Given the description of an element on the screen output the (x, y) to click on. 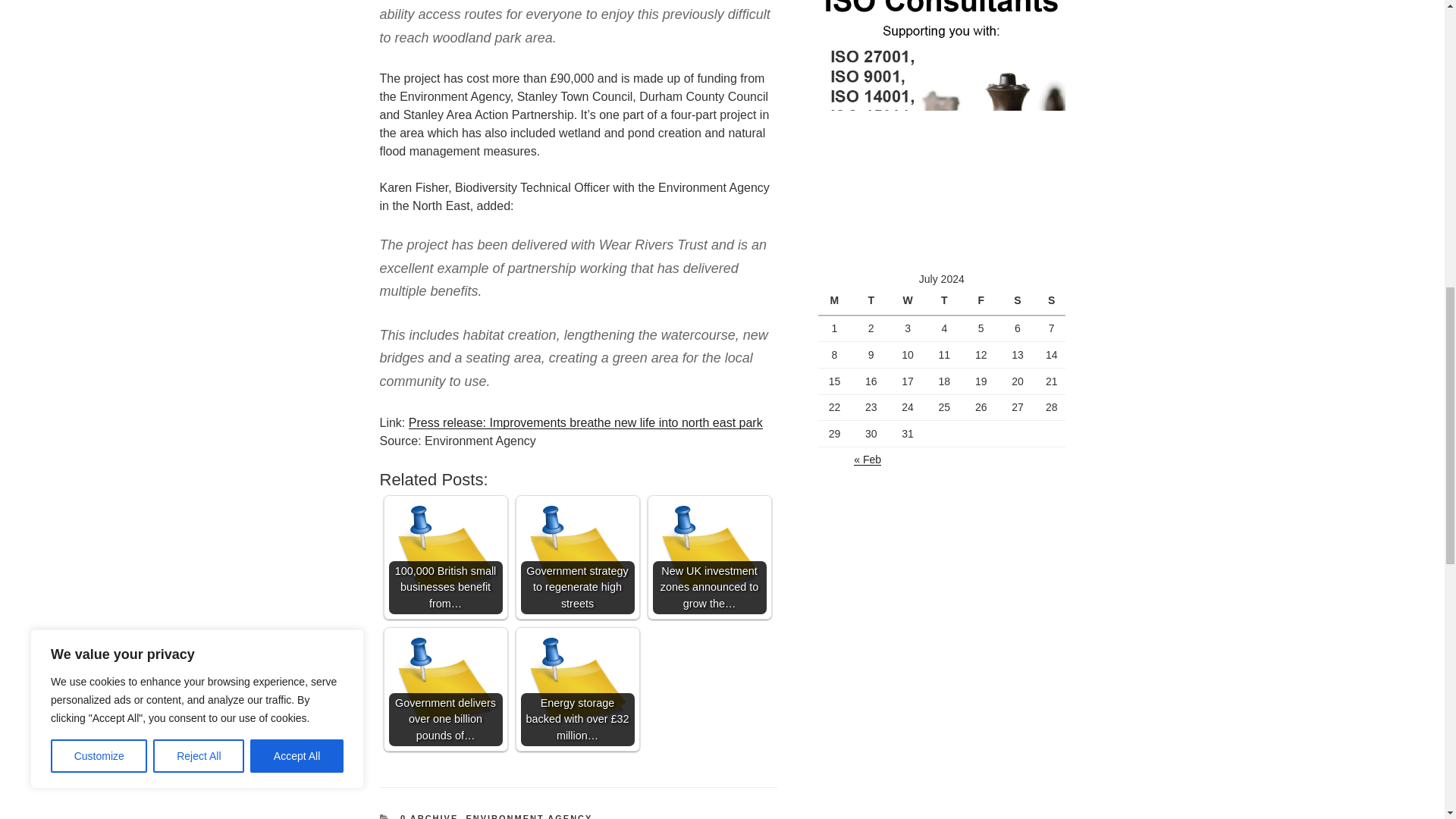
Tuesday (872, 301)
Wednesday (909, 301)
Thursday (945, 301)
Government strategy to regenerate high streets (576, 557)
Friday (982, 301)
Monday (836, 301)
Sunday (1051, 301)
Saturday (1019, 301)
